Given the description of an element on the screen output the (x, y) to click on. 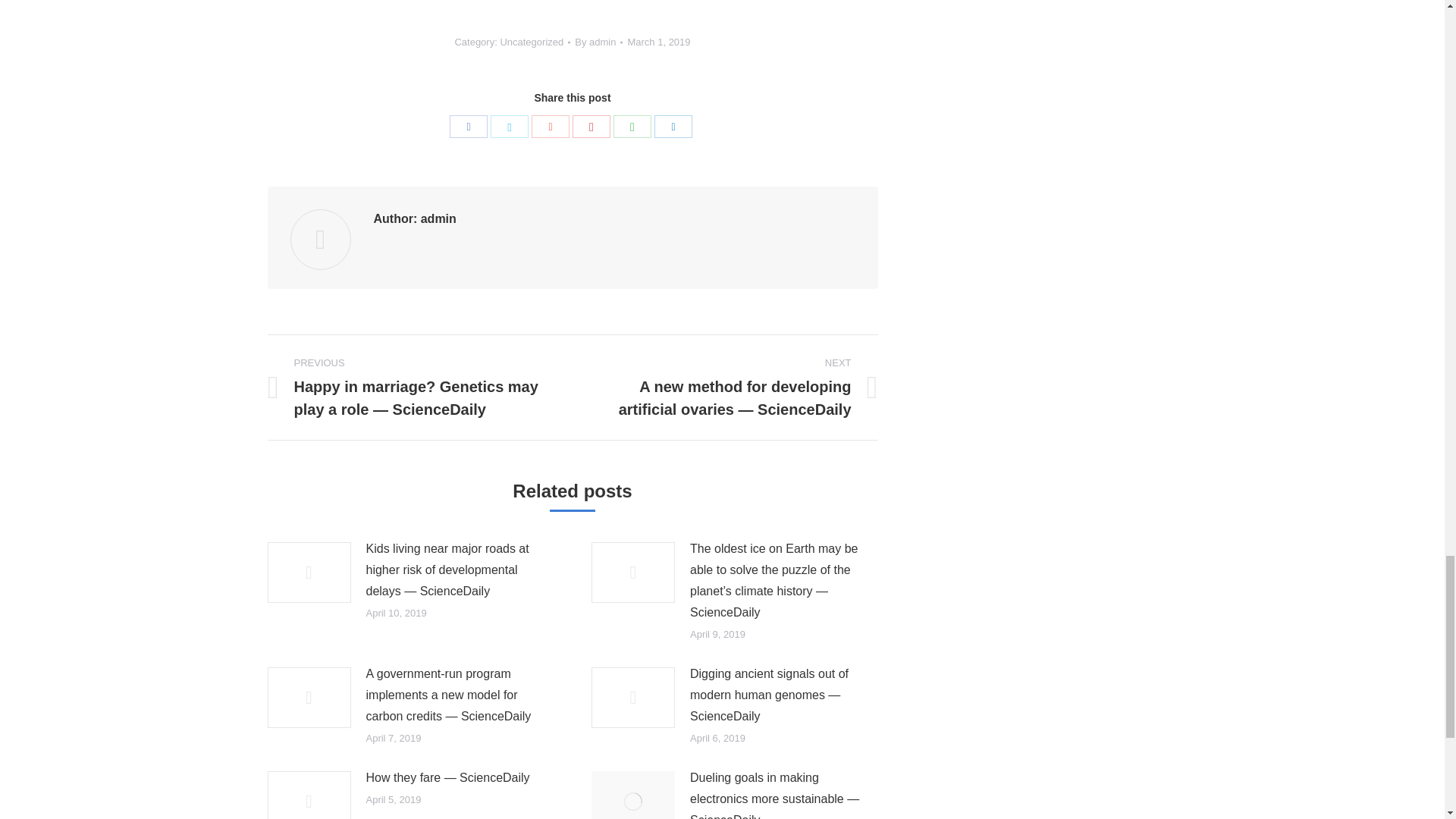
Share with Facebook (468, 126)
By admin (599, 41)
Uncategorized (531, 41)
Share with Twitter (509, 126)
Pinterest (591, 126)
Share with Pinterest (591, 126)
Facebook (468, 126)
March 1, 2019 (658, 41)
View all posts by admin (599, 41)
LinkedIn (673, 126)
